Given the description of an element on the screen output the (x, y) to click on. 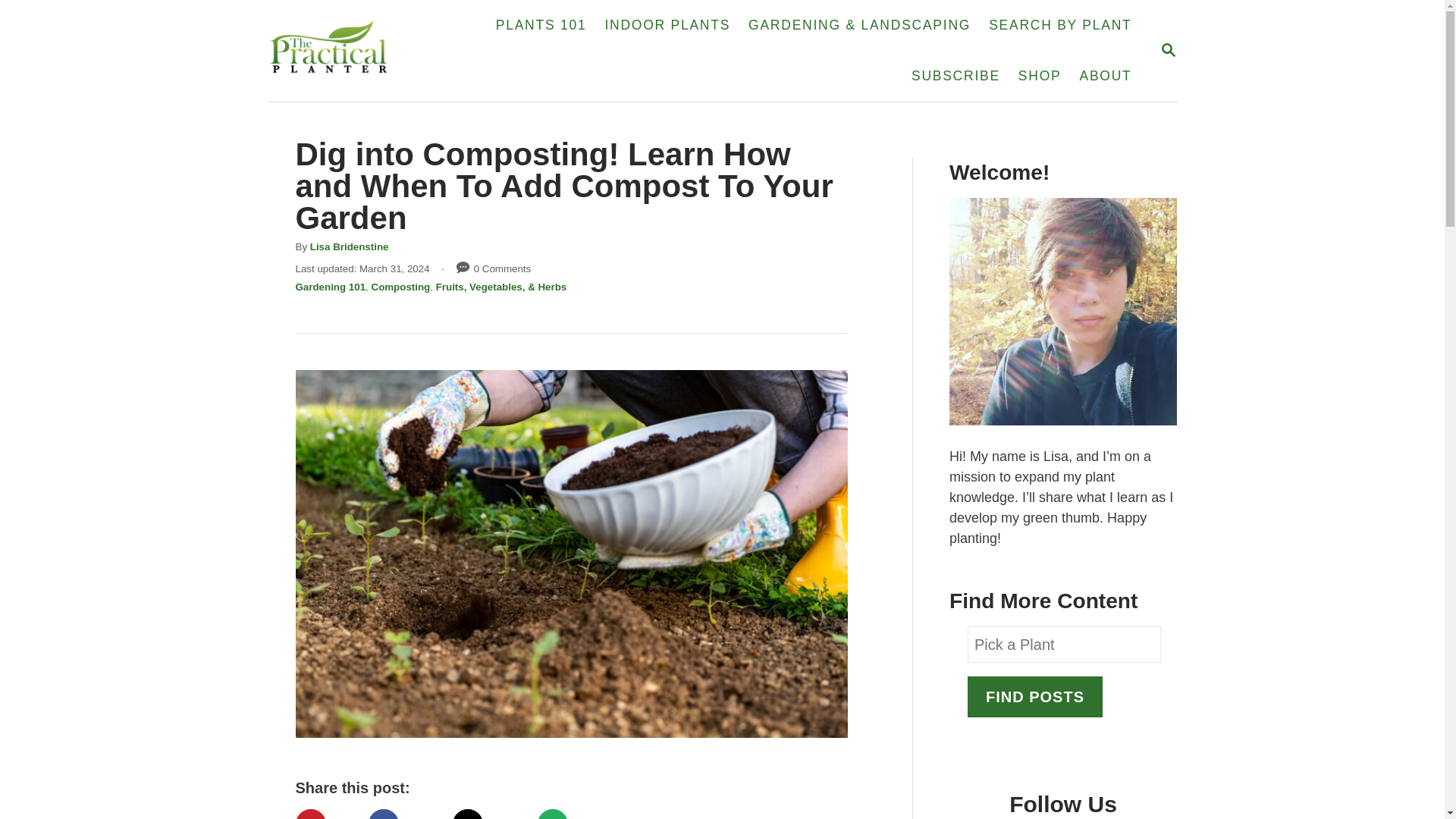
MAGNIFYING GLASS (1167, 49)
Composting (400, 286)
SEARCH BY PLANT (1059, 25)
ABOUT (1105, 76)
INDOOR PLANTS (1167, 50)
PLANTS 101 (667, 25)
Send over email (540, 25)
Save to Pinterest (573, 814)
Share on X (326, 814)
The Practical Planter (488, 814)
Find Posts (356, 50)
Lisa Bridenstine (1035, 696)
SHOP (349, 246)
Share on Facebook (1039, 76)
